Given the description of an element on the screen output the (x, y) to click on. 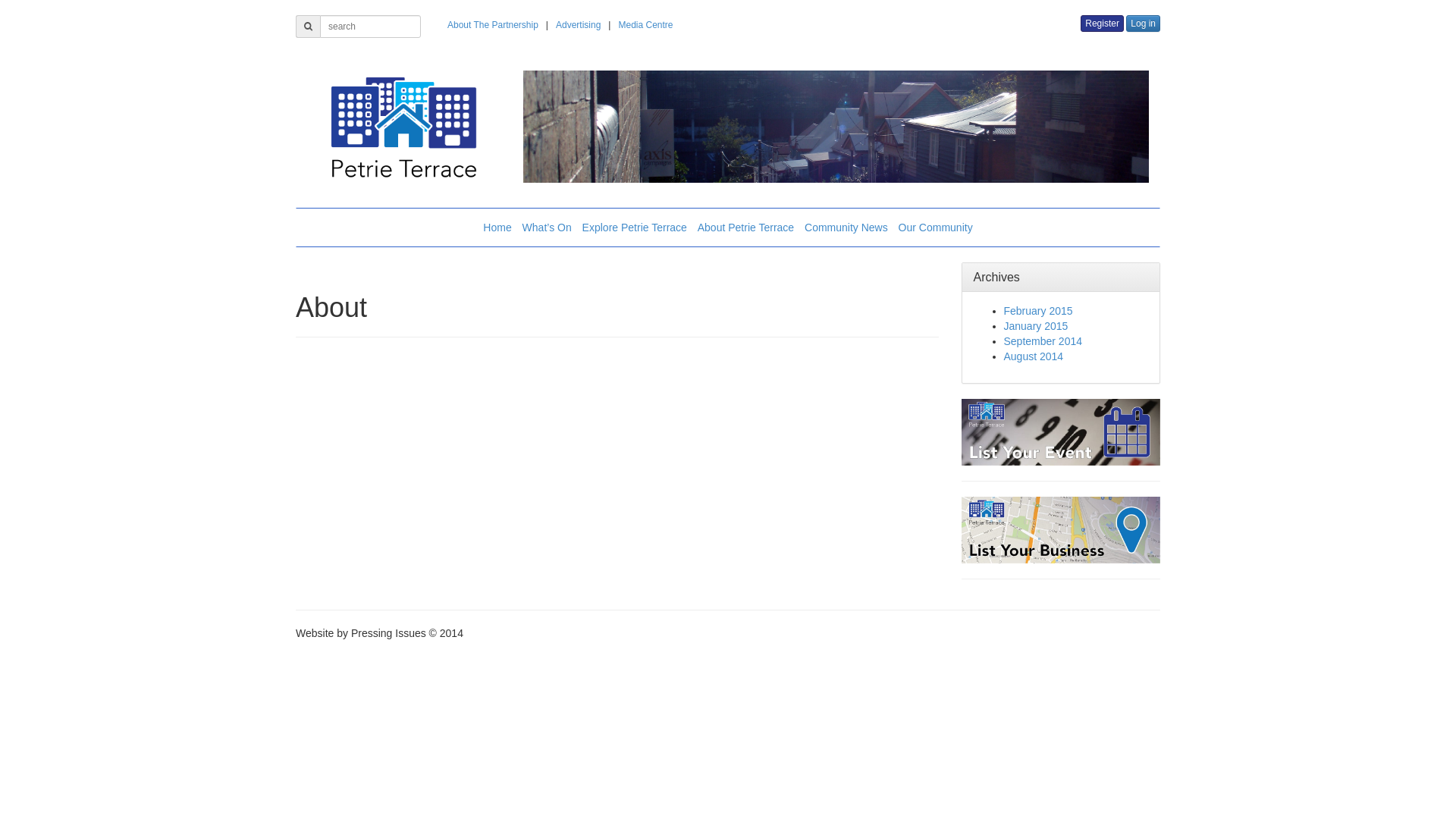
About The Partnership Element type: text (492, 24)
Community News Element type: text (845, 227)
Explore Petrie Terrace Element type: text (634, 227)
About Petrie Terrace Element type: text (745, 227)
August 2014 Element type: text (1033, 356)
Log in Element type: text (1143, 23)
February 2015 Element type: text (1038, 310)
Media Centre Element type: text (645, 24)
Advertising Element type: text (577, 24)
Home Element type: text (496, 227)
Our Community Element type: text (935, 227)
Register Element type: text (1101, 23)
September 2014 Element type: text (1043, 341)
January 2015 Element type: text (1036, 326)
